Given the description of an element on the screen output the (x, y) to click on. 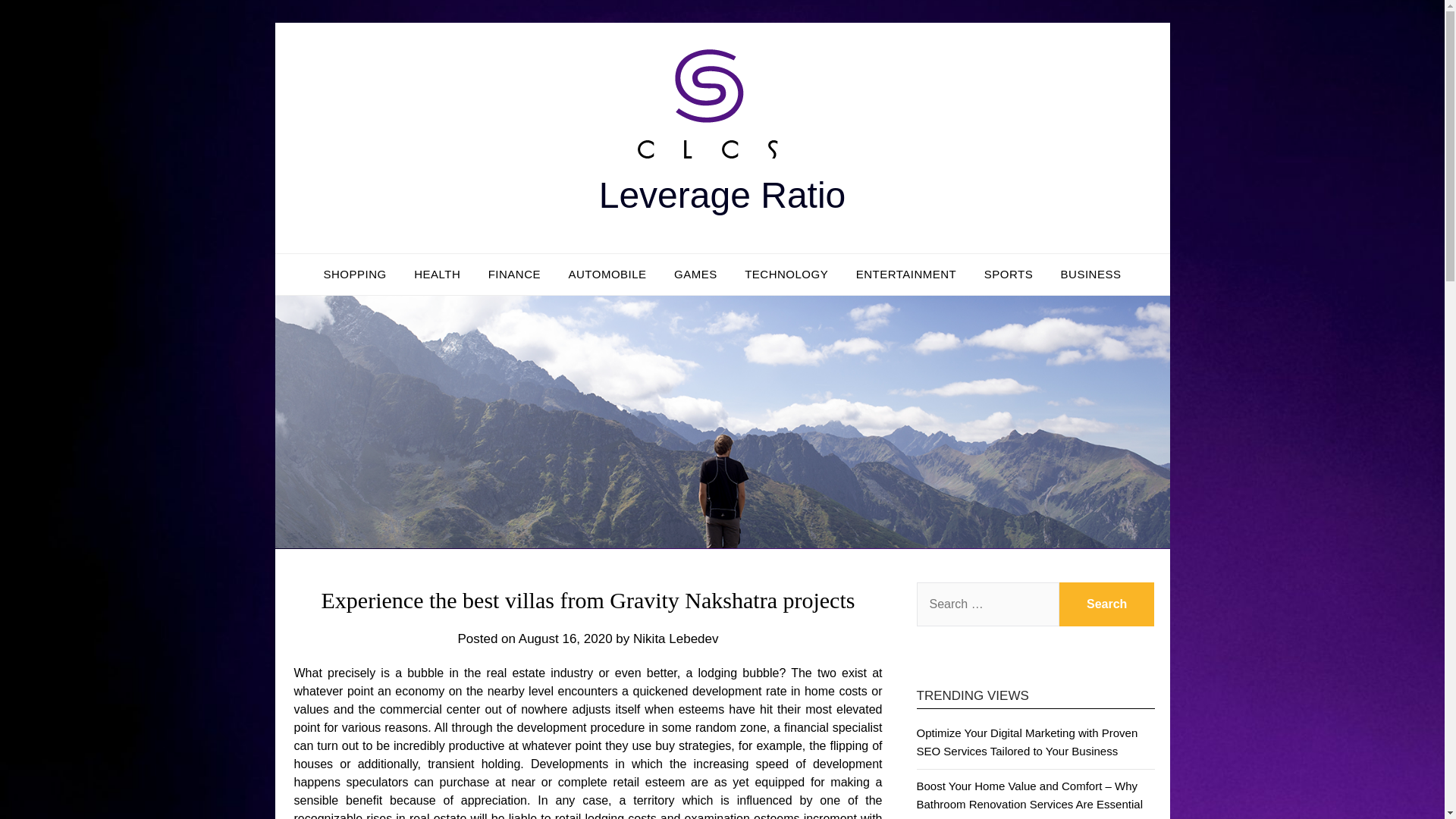
ENTERTAINMENT (906, 273)
BUSINESS (1091, 273)
Search (1106, 604)
SPORTS (1008, 273)
August 16, 2020 (565, 638)
HEALTH (436, 273)
SHOPPING (354, 273)
GAMES (695, 273)
TECHNOLOGY (786, 273)
Search (1106, 604)
FINANCE (514, 273)
Search (1106, 604)
AUTOMOBILE (607, 273)
Leverage Ratio (721, 195)
